Given the description of an element on the screen output the (x, y) to click on. 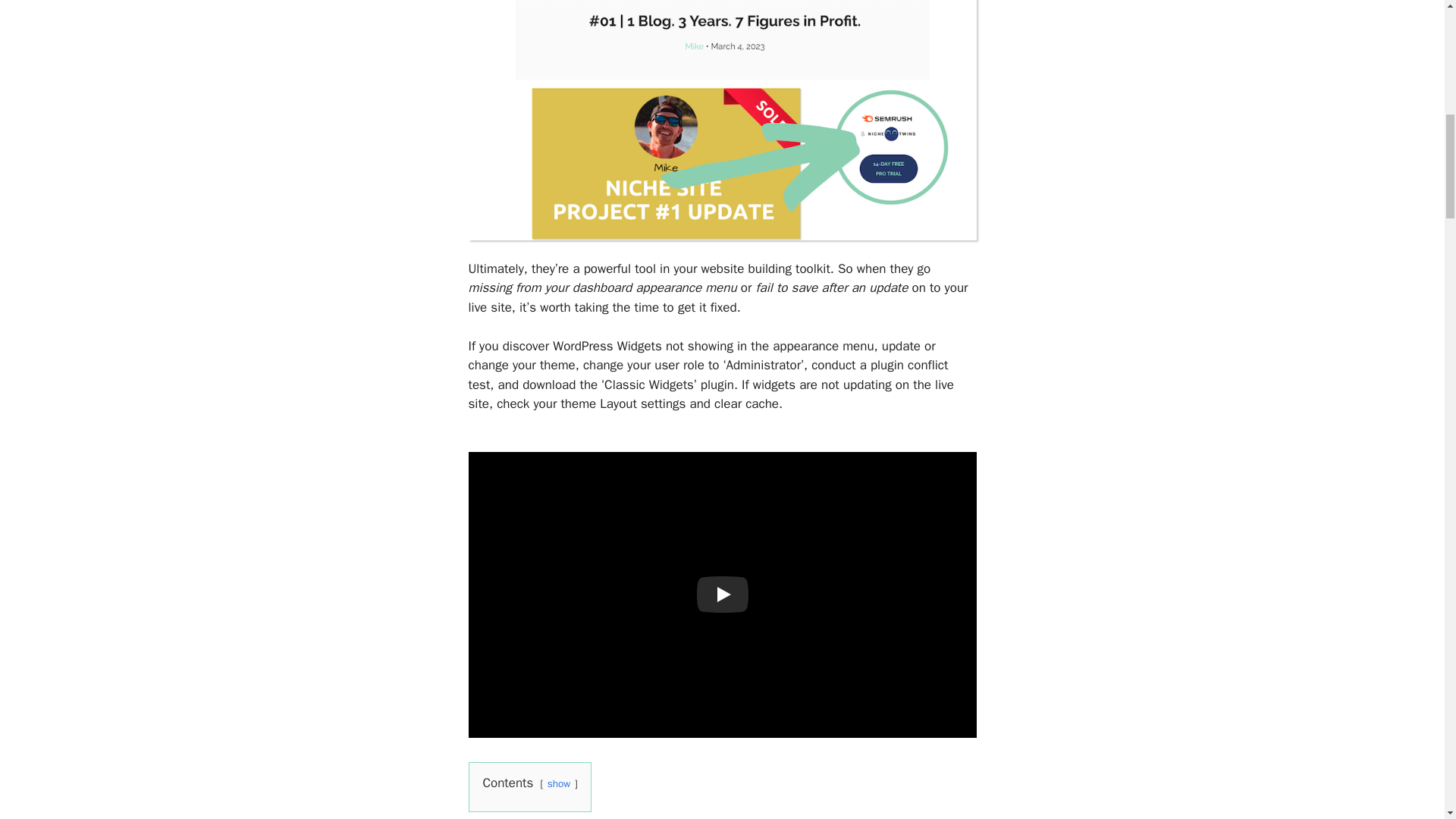
show (558, 783)
